Given the description of an element on the screen output the (x, y) to click on. 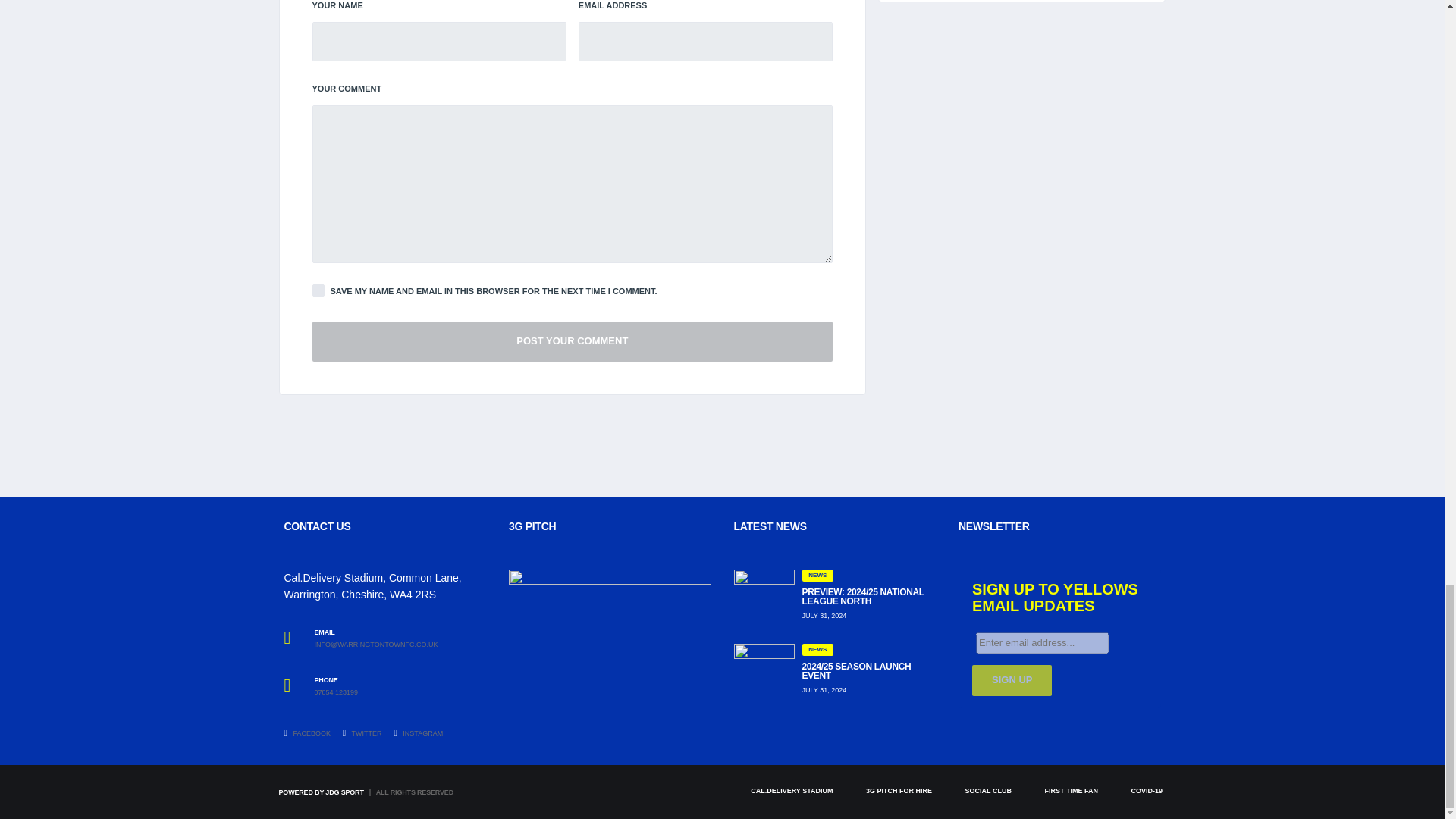
Post Your Comment (572, 341)
Sign up (1011, 680)
